Given the description of an element on the screen output the (x, y) to click on. 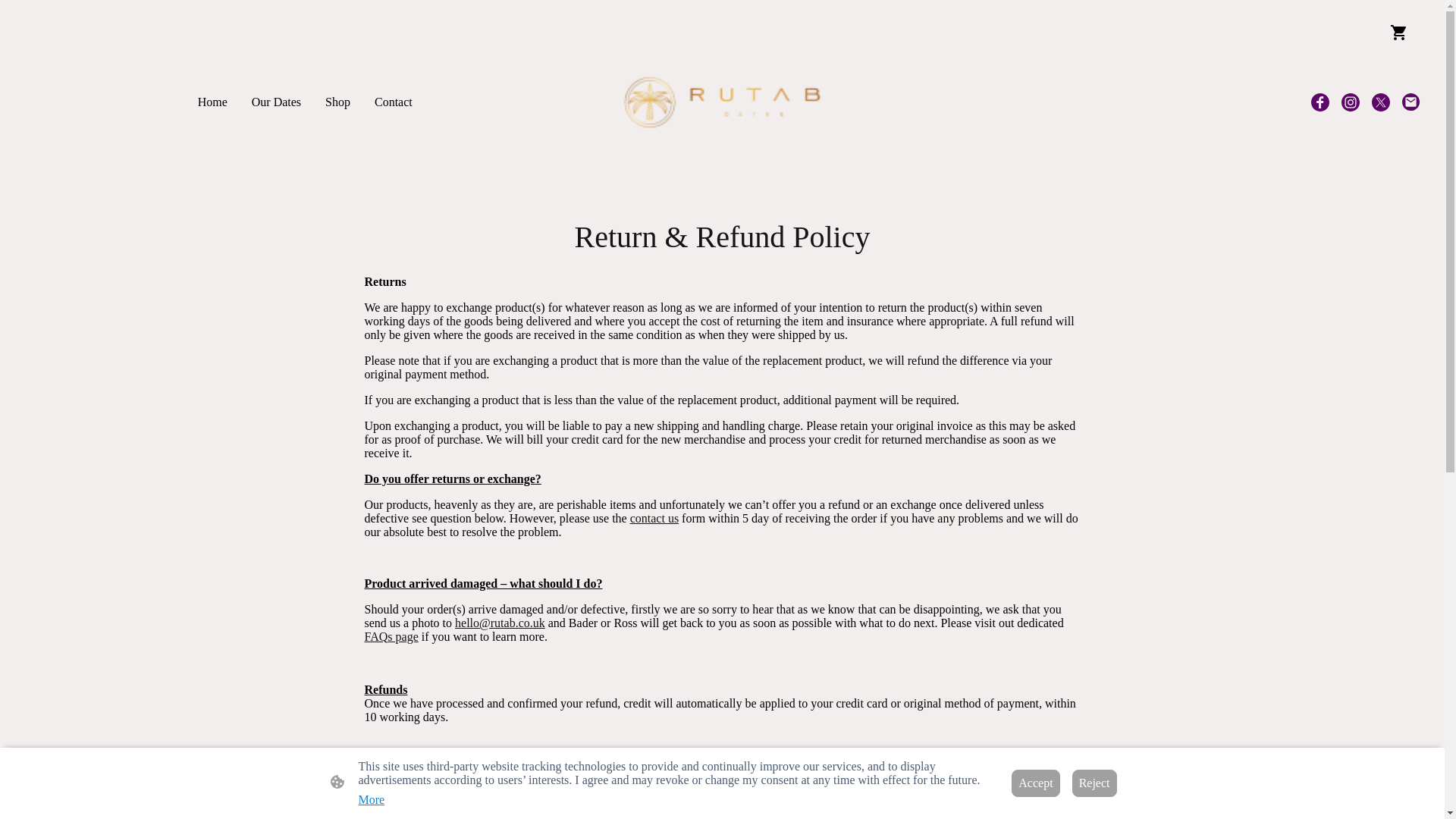
Our Dates (276, 102)
Contact (393, 102)
Home (212, 102)
Accept (1035, 782)
More (371, 799)
contact us (654, 517)
Shop (337, 102)
FAQs page (390, 635)
